Given the description of an element on the screen output the (x, y) to click on. 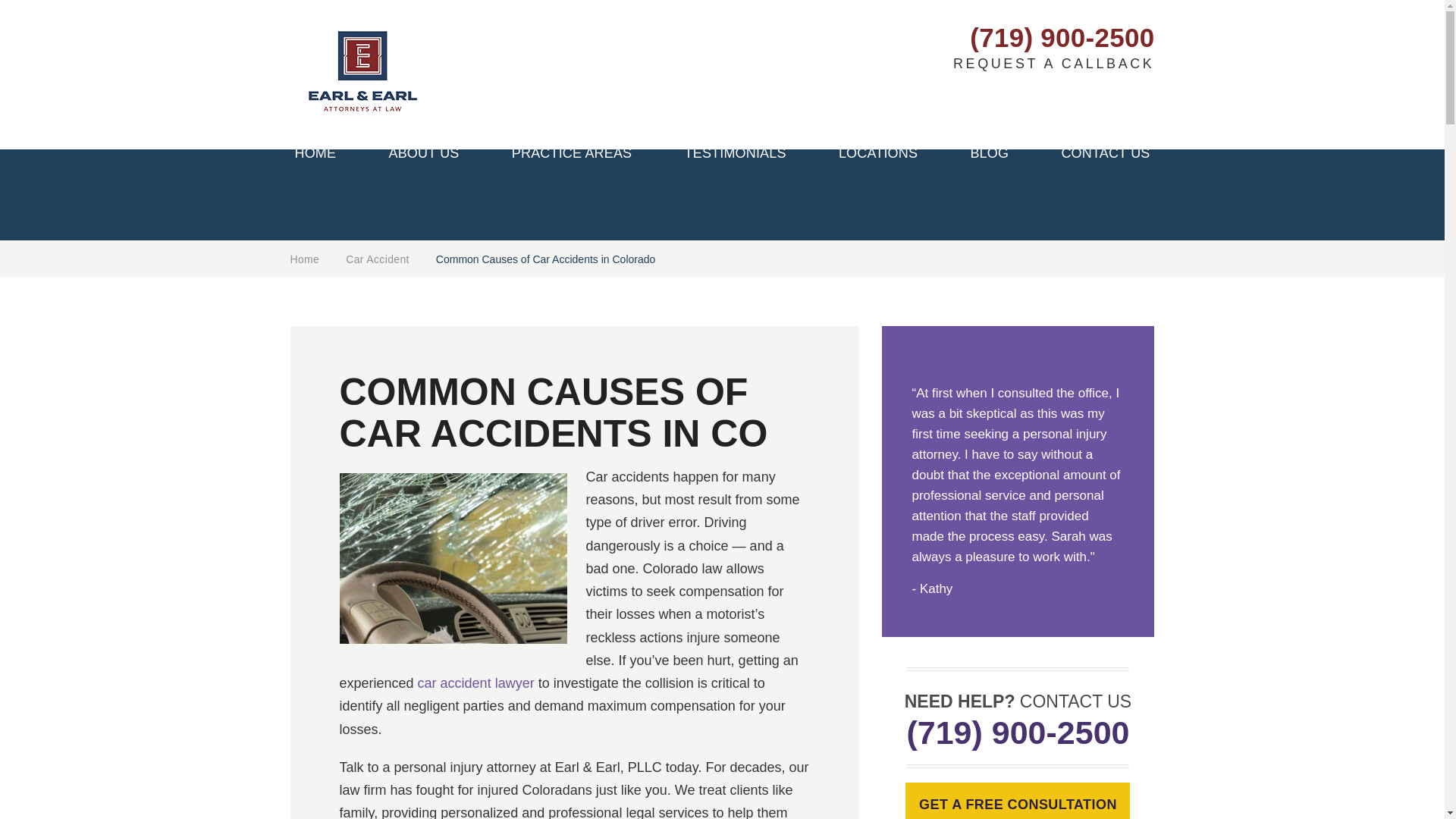
HOME (315, 156)
ABOUT US (423, 156)
PRACTICE AREAS (571, 156)
